Given the description of an element on the screen output the (x, y) to click on. 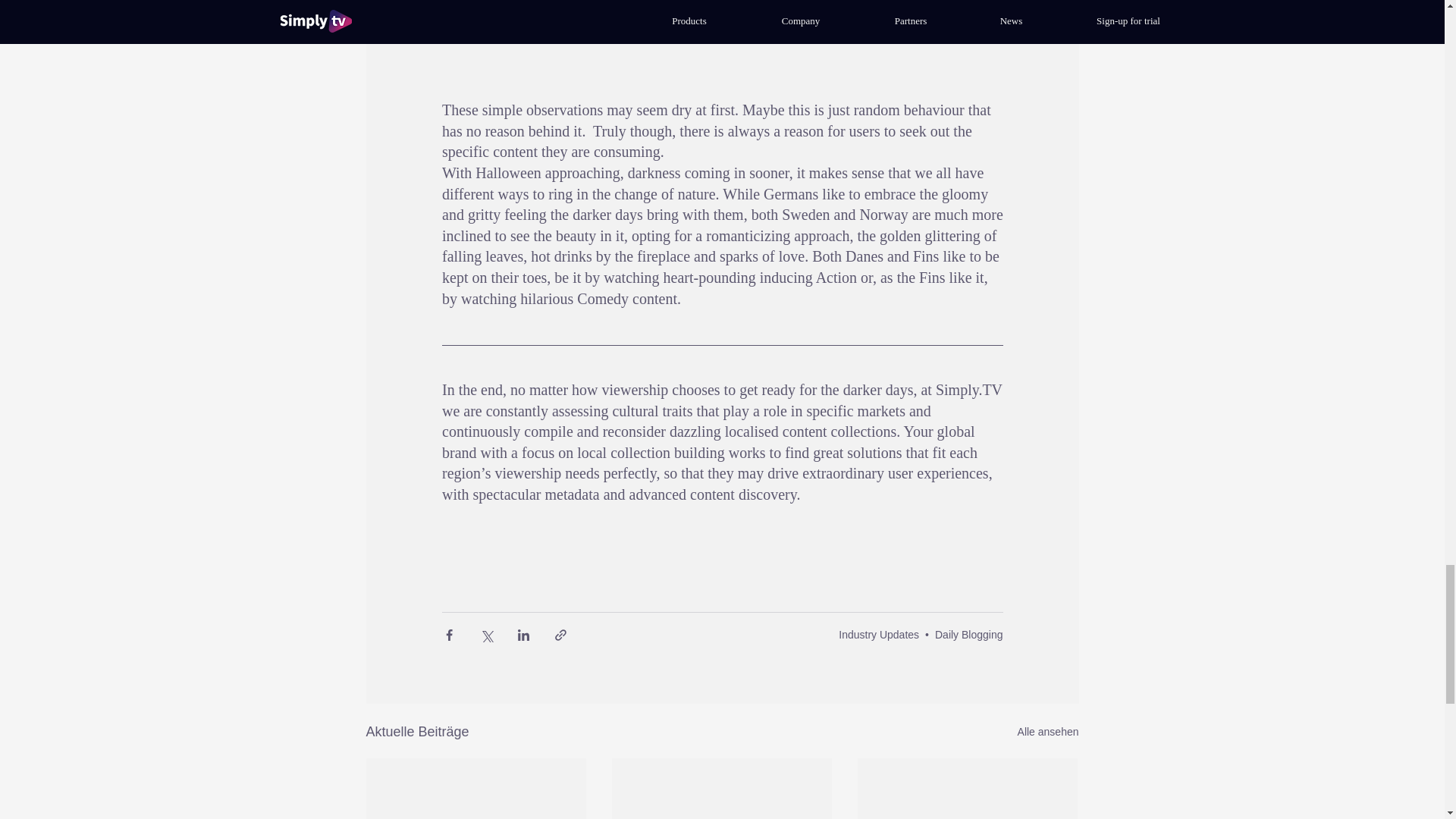
Alle ansehen (1047, 731)
Daily Blogging (968, 634)
Industry Updates (878, 634)
